Given the description of an element on the screen output the (x, y) to click on. 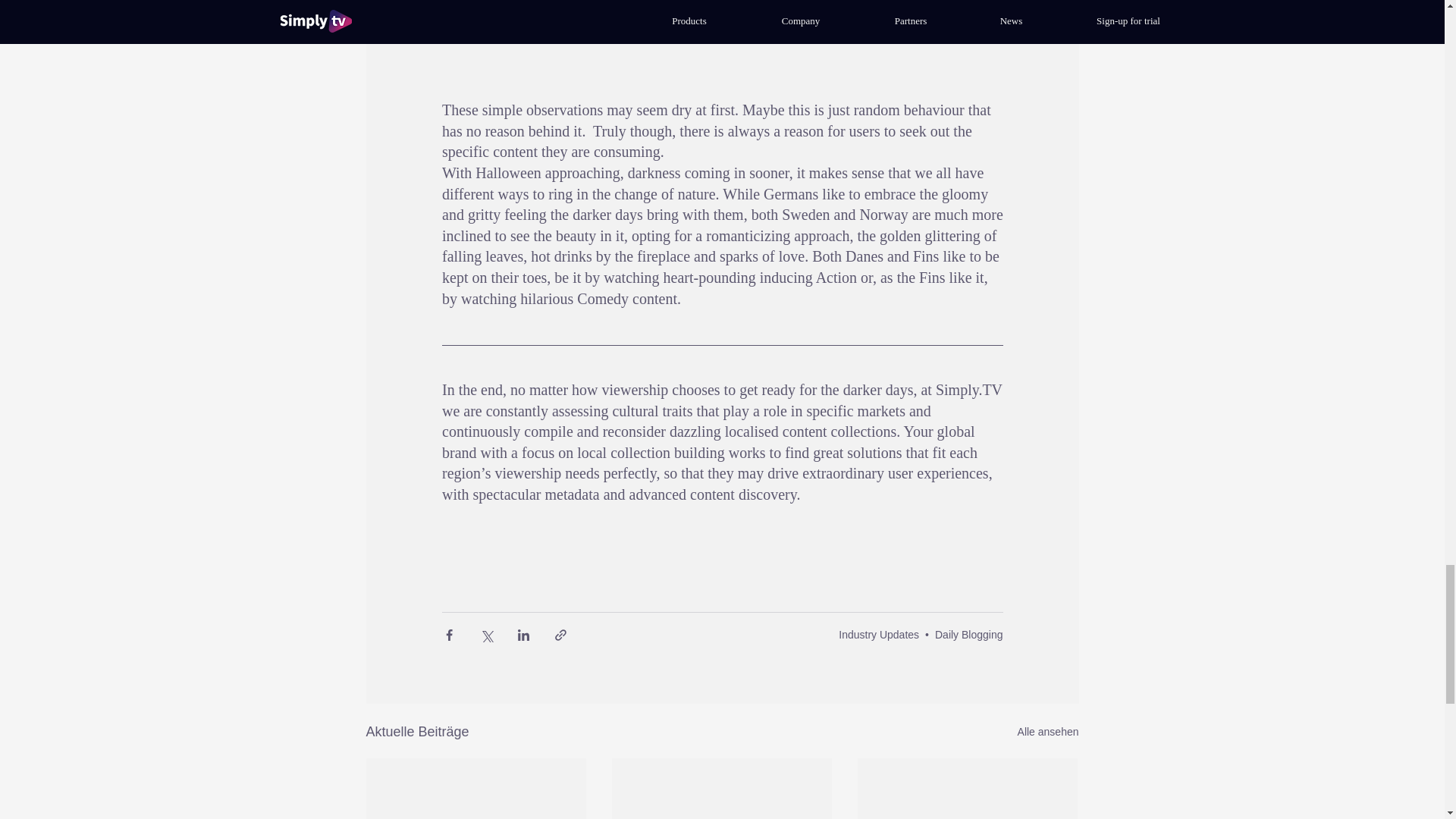
Alle ansehen (1047, 731)
Daily Blogging (968, 634)
Industry Updates (878, 634)
